Given the description of an element on the screen output the (x, y) to click on. 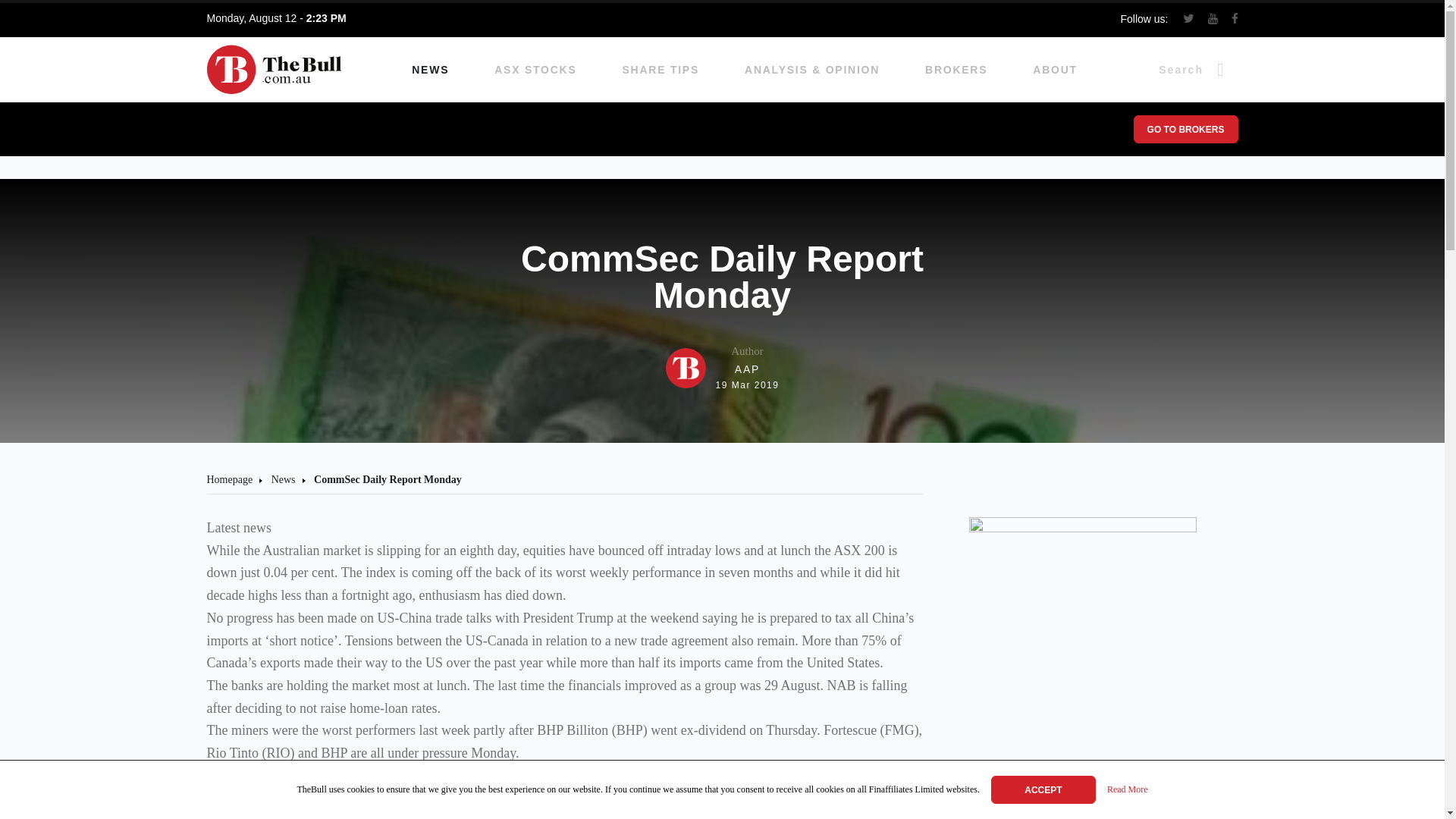
News (282, 479)
ACCEPT (1043, 789)
Read More (1127, 789)
GO TO BROKERS (1184, 129)
BROKERS (955, 69)
SHARE TIPS (661, 69)
ABOUT (1054, 69)
ASX STOCKS (721, 367)
Homepage (535, 69)
